Given the description of an element on the screen output the (x, y) to click on. 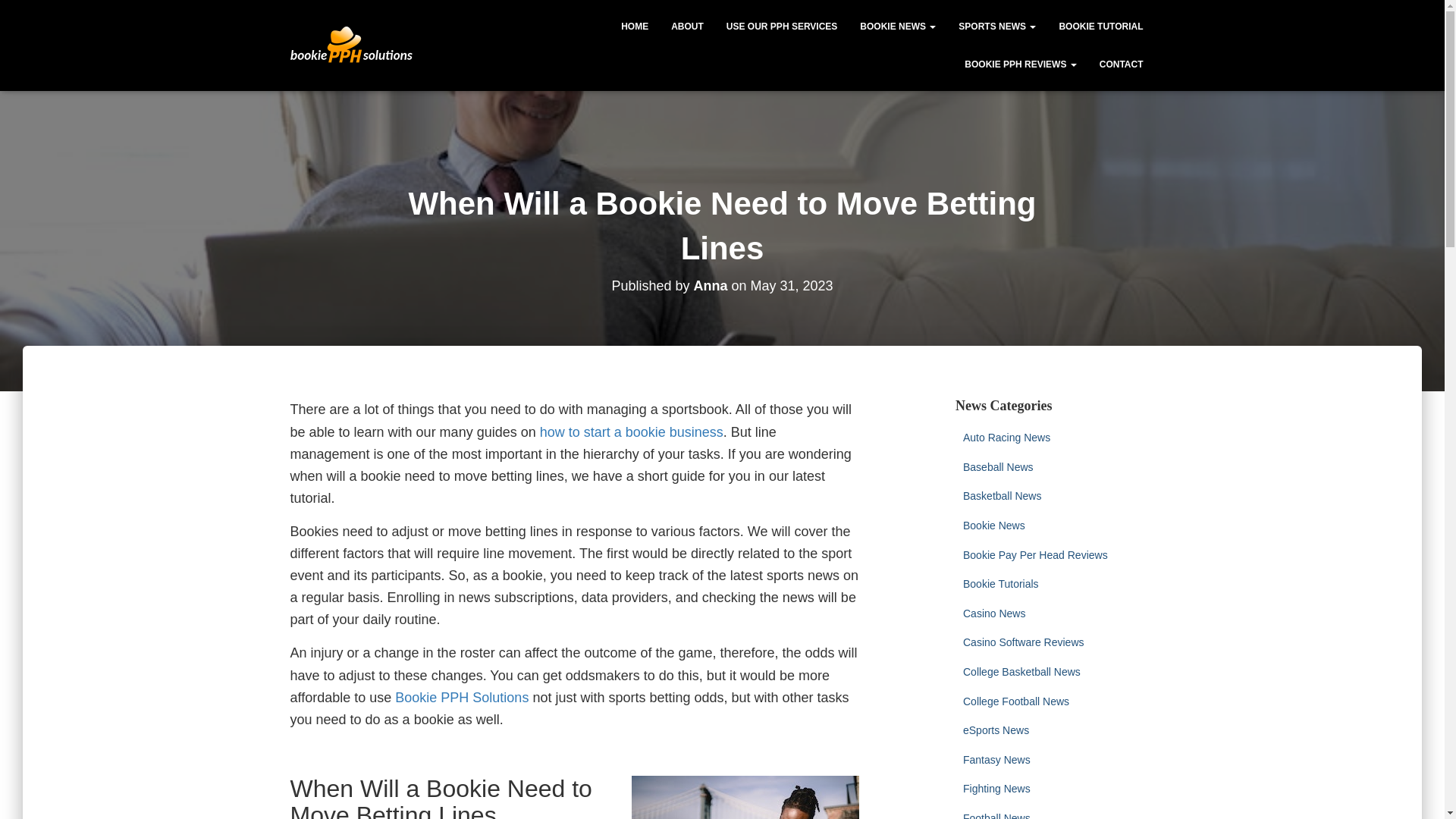
ABOUT (686, 26)
CONTACT (1120, 64)
About (686, 26)
BOOKIE PPH REVIEWS (1020, 64)
HOME (634, 26)
Home (634, 26)
BOOKIE TUTORIAL (1100, 26)
Sports News (996, 26)
BOOKIE NEWS (897, 26)
Anna (709, 285)
how to start a bookie business (631, 432)
Bookie News (897, 26)
Use Our PPH Services (781, 26)
USE OUR PPH SERVICES (781, 26)
Bookie PPH Solutions (461, 697)
